Given the description of an element on the screen output the (x, y) to click on. 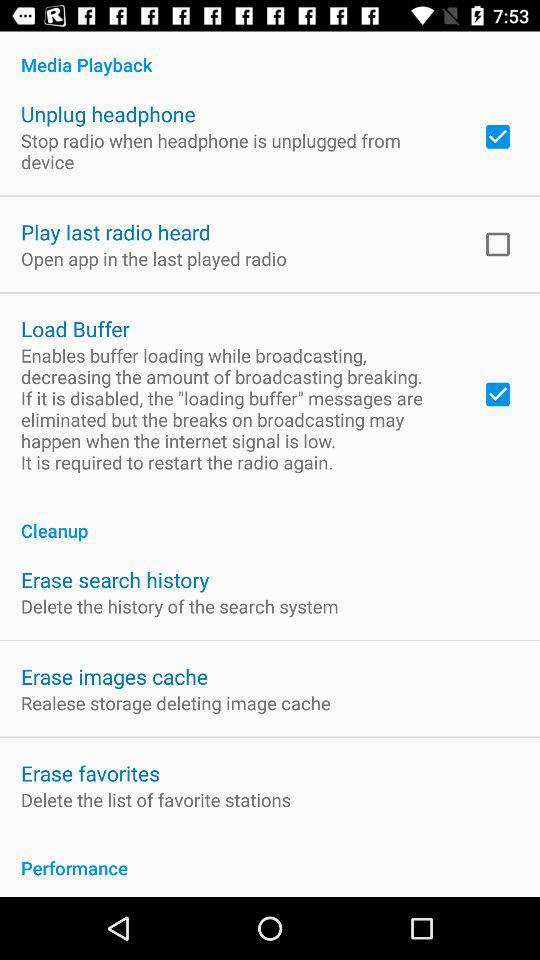
click the erase images cache icon (114, 676)
